Given the description of an element on the screen output the (x, y) to click on. 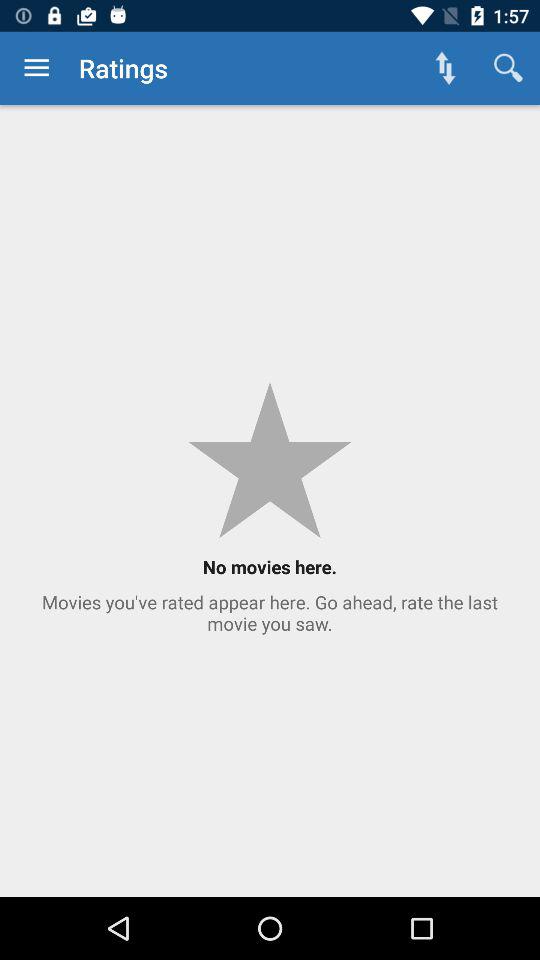
launch the icon to the left of ratings app (36, 68)
